Given the description of an element on the screen output the (x, y) to click on. 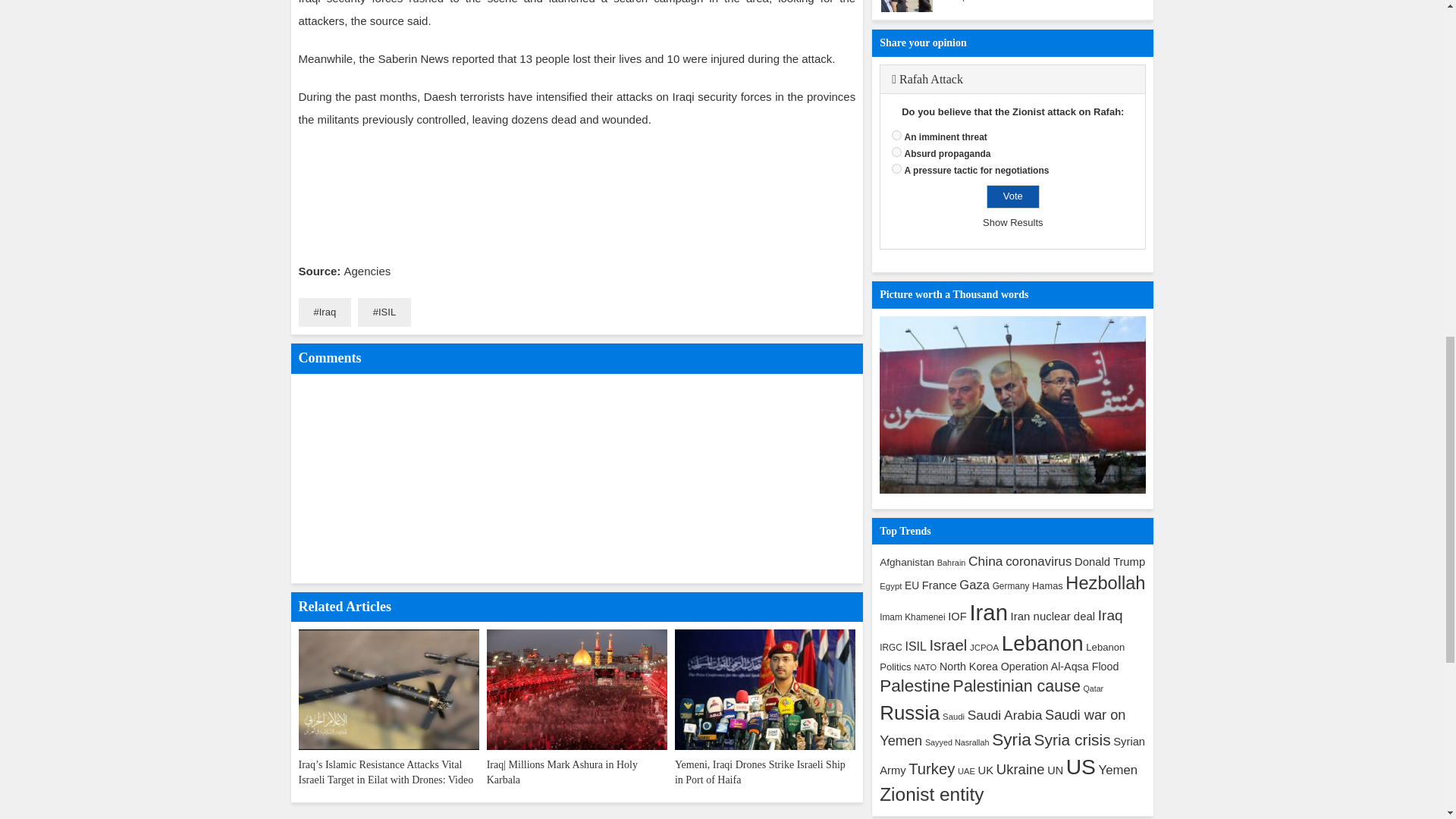
323 topics (890, 585)
Show results for this vote  (1012, 222)
806 topics (1038, 561)
344 topics (1010, 585)
466 topics (906, 562)
2565 (896, 135)
569 topics (1109, 562)
2587 (896, 168)
291 topics (951, 562)
478 topics (911, 585)
